Given the description of an element on the screen output the (x, y) to click on. 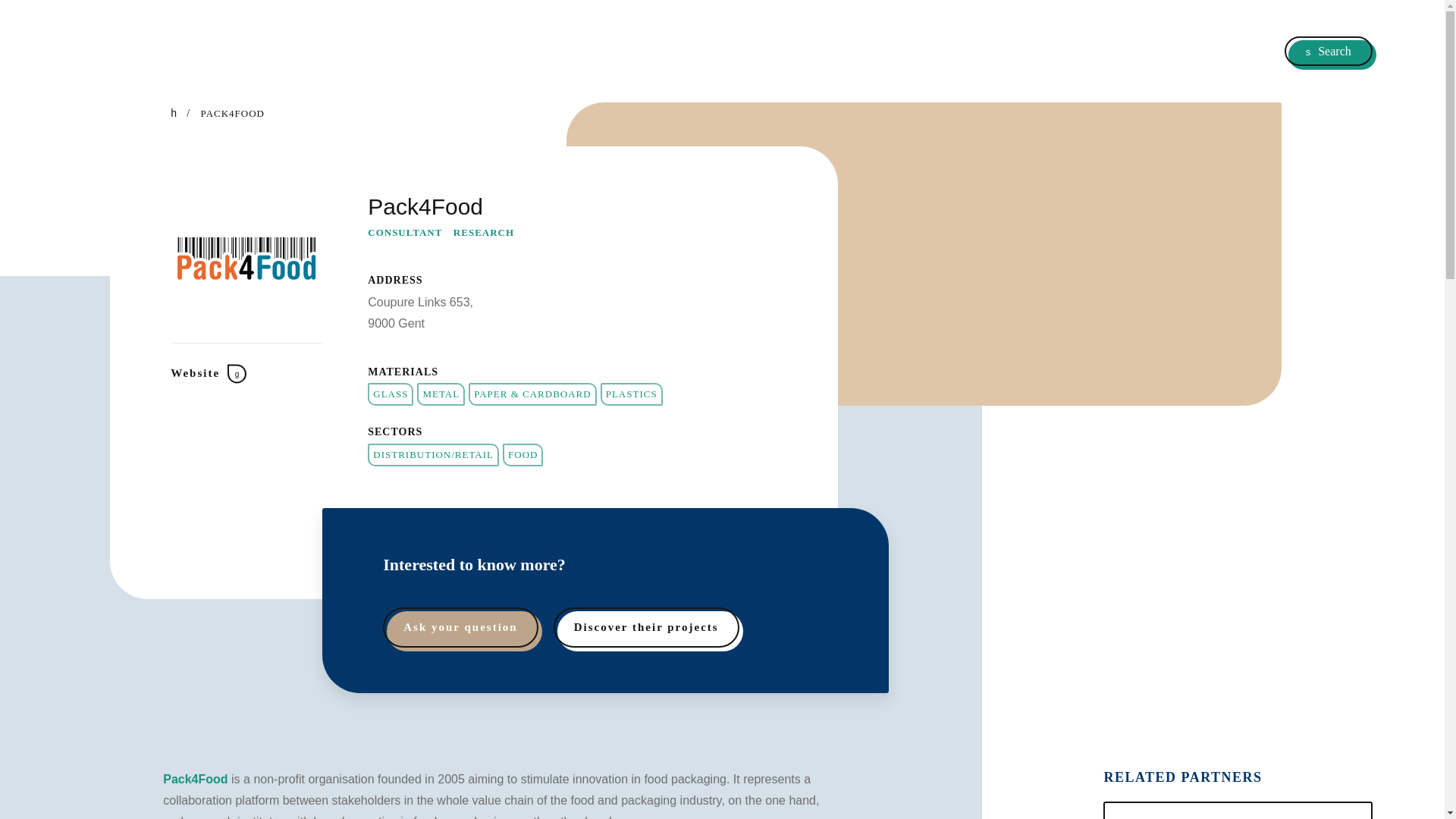
Discover their projects (623, 627)
Website (243, 373)
FOOD (544, 454)
Ask your question (435, 627)
METAL (473, 393)
Pack4Food (195, 779)
Search (1328, 51)
CONSULTANT (438, 232)
View this expert (1237, 810)
RESEARCH (516, 232)
Rechercher (740, 253)
sharepack (173, 54)
PLASTICS (659, 393)
Discover their projects (646, 627)
GLASS (423, 393)
